Given the description of an element on the screen output the (x, y) to click on. 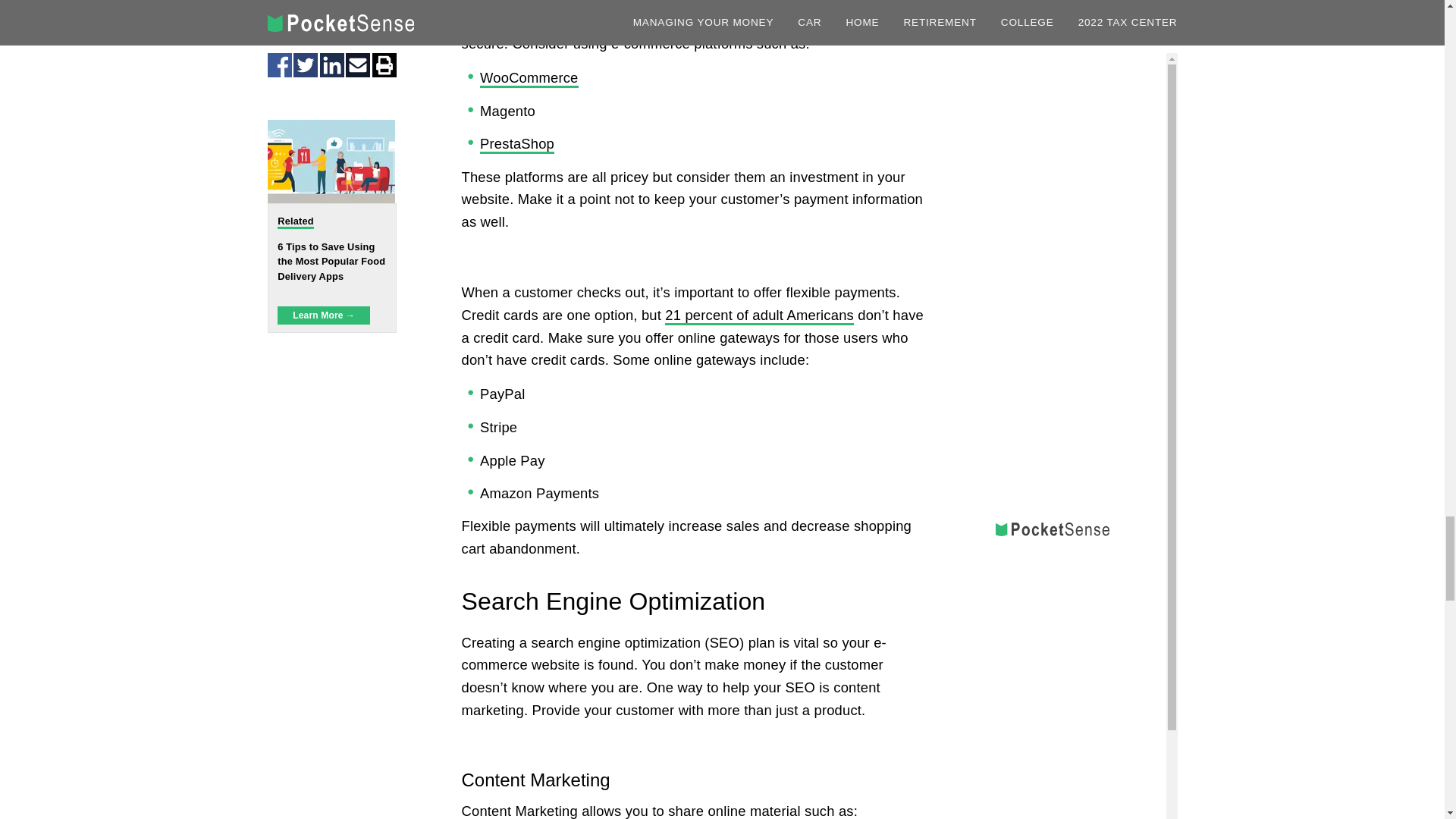
21 percent of adult Americans (759, 316)
WooCommerce (529, 78)
PrestaShop (517, 144)
